Given the description of an element on the screen output the (x, y) to click on. 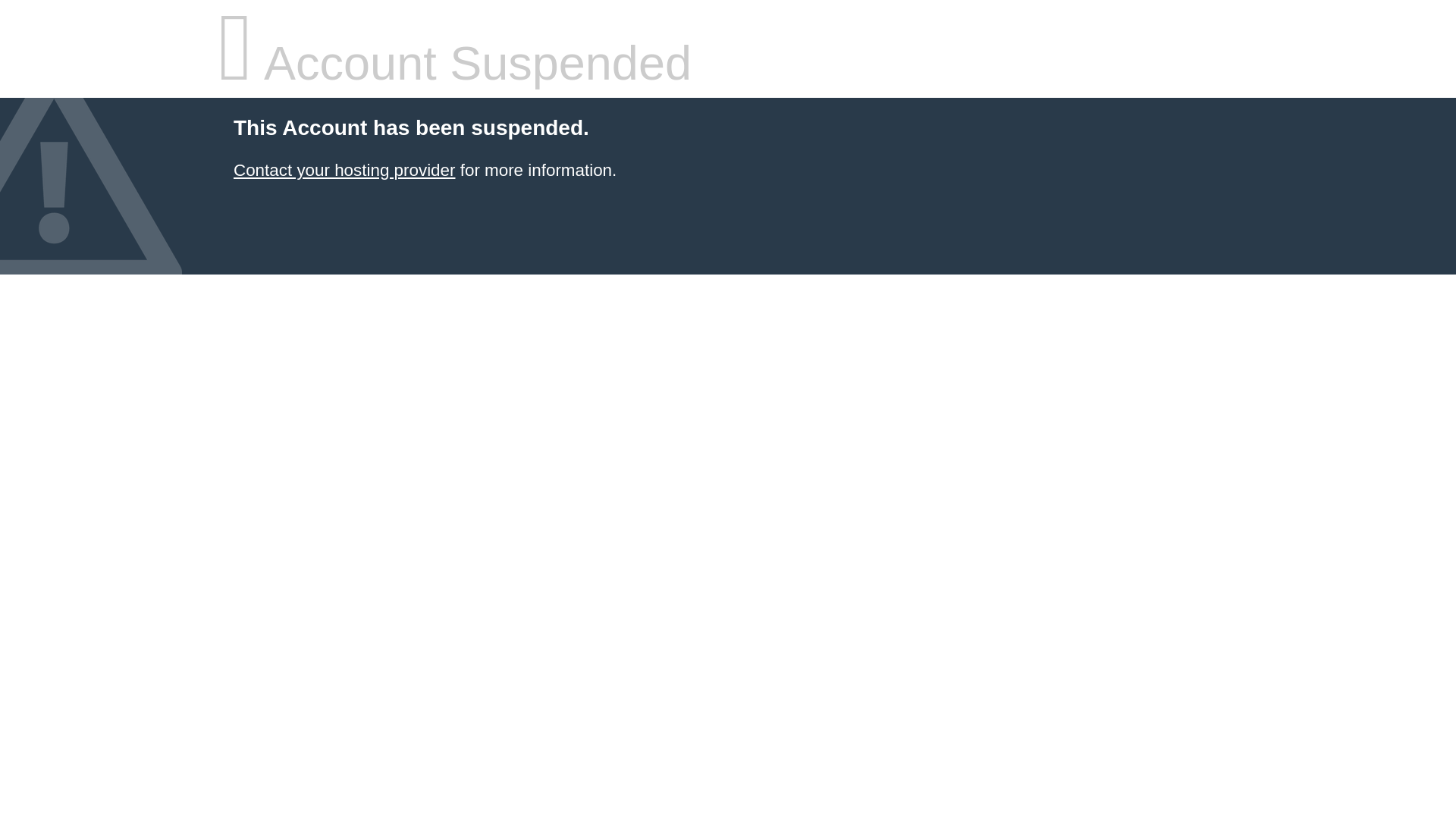
Contact your hosting provider (343, 169)
